Given the description of an element on the screen output the (x, y) to click on. 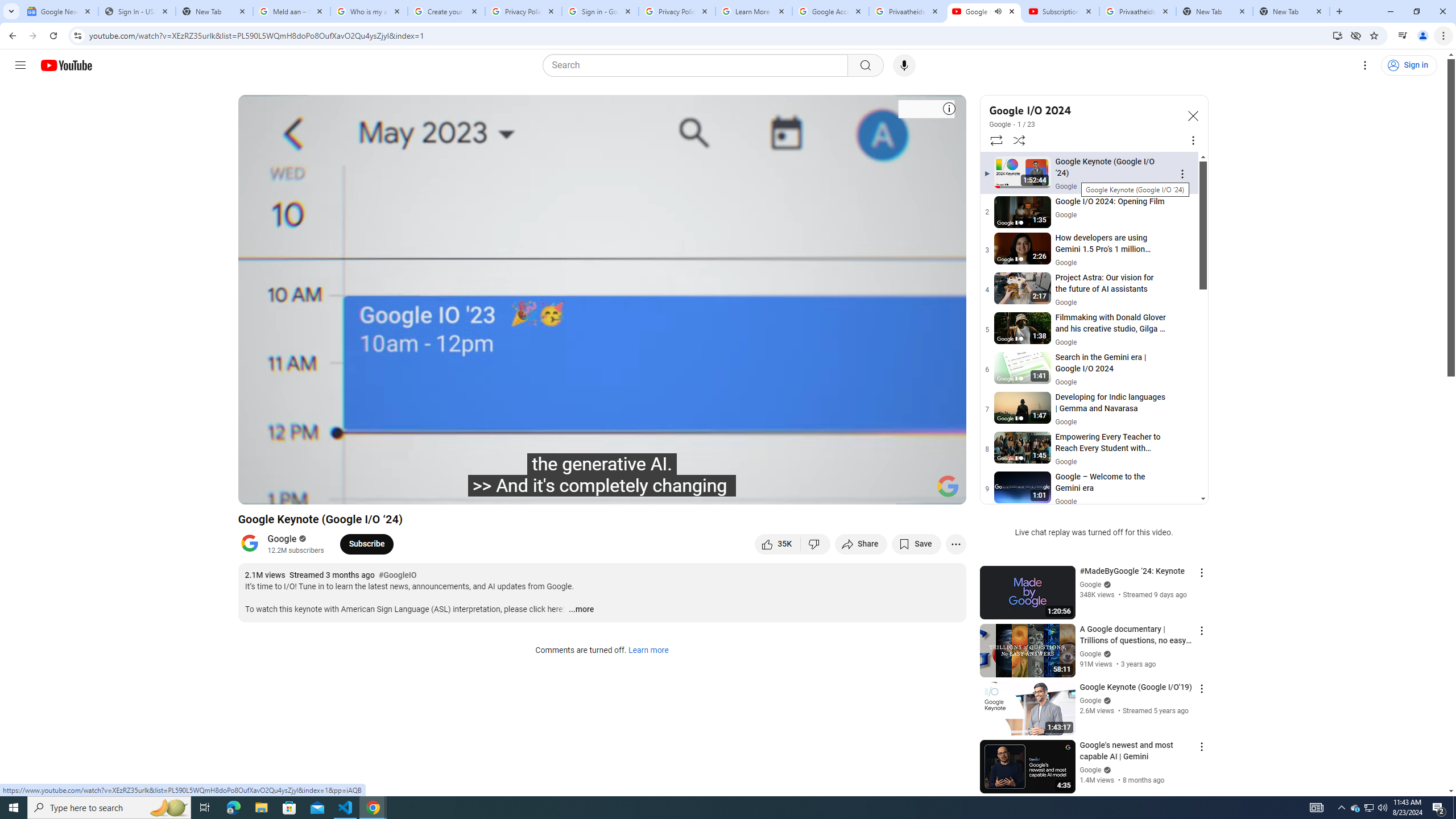
Google News (59, 11)
Mute (m) (338, 490)
Theater mode (t) (917, 490)
Subtitles/closed captions unavailable (836, 490)
